Given the description of an element on the screen output the (x, y) to click on. 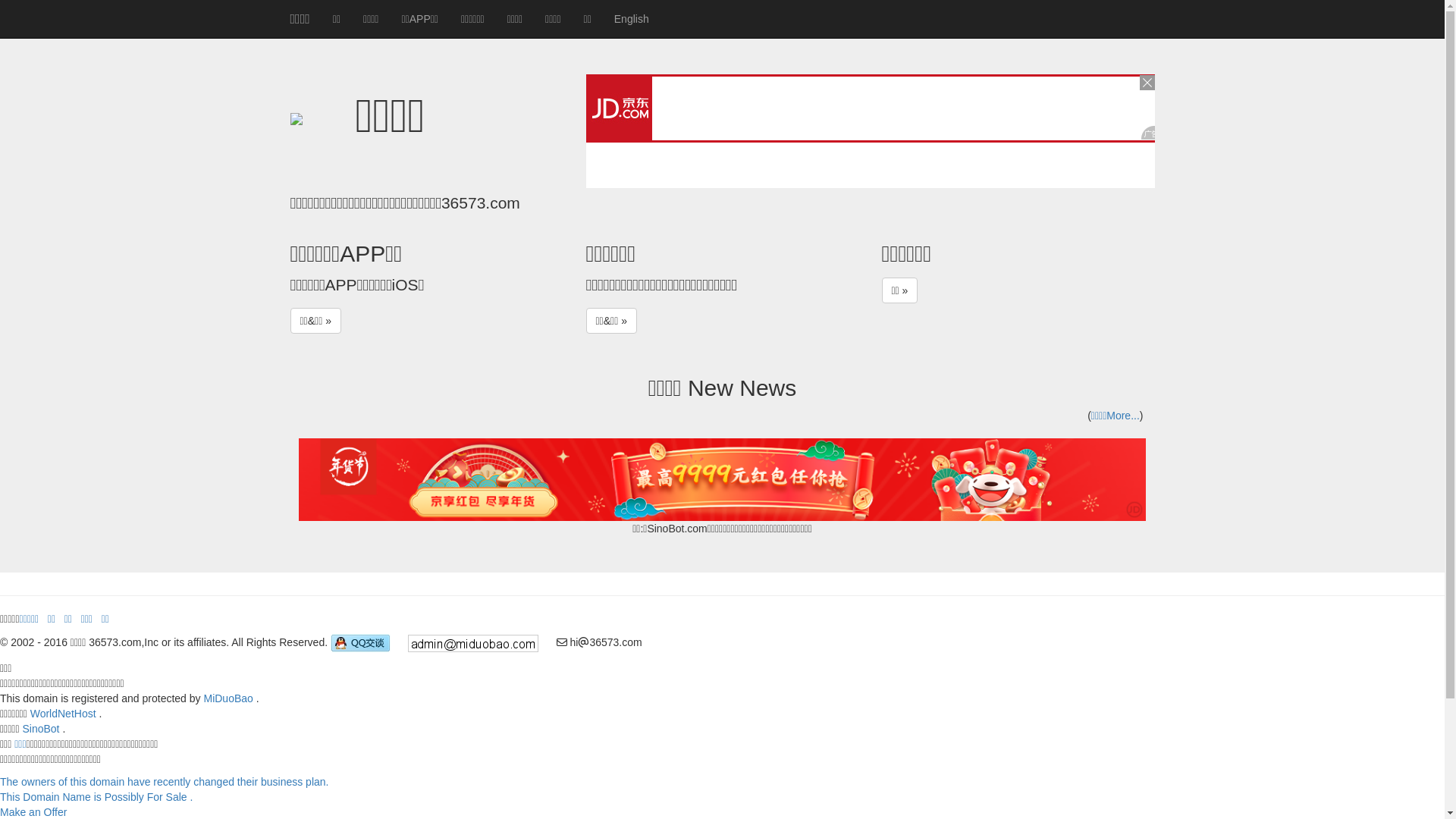
English Element type: text (631, 18)
SinoBot Element type: text (40, 728)
WorldNetHost Element type: text (63, 713)
MiDuoBao Element type: text (227, 698)
